Given the description of an element on the screen output the (x, y) to click on. 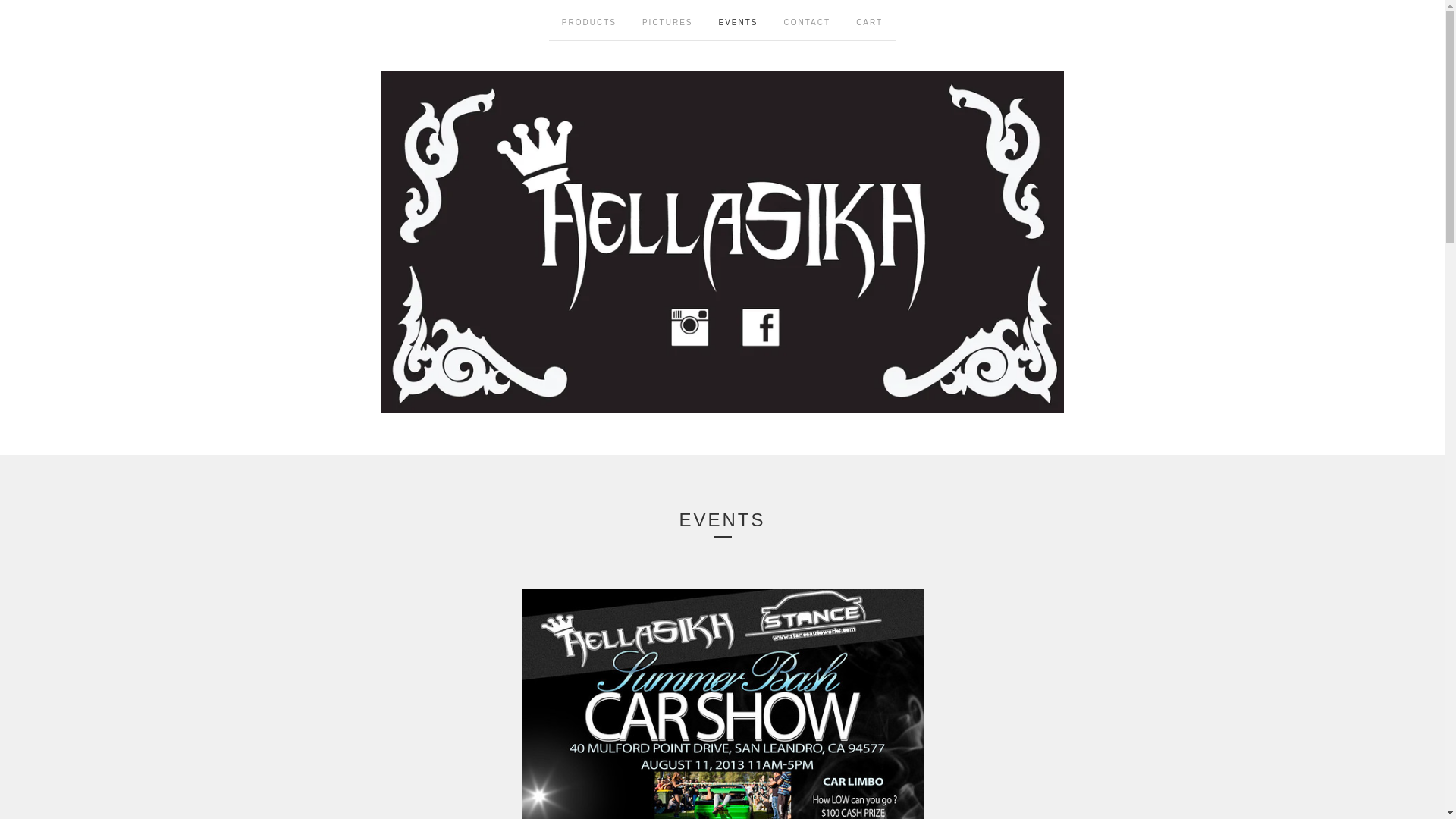
EVENTS (738, 20)
PRODUCTS (588, 20)
PICTURES (667, 20)
Hellasikh Car Show by hellasikh, on Flickr (722, 703)
View Pictures (667, 20)
CART (869, 20)
CONTACT (807, 20)
View Events (738, 20)
